Given the description of an element on the screen output the (x, y) to click on. 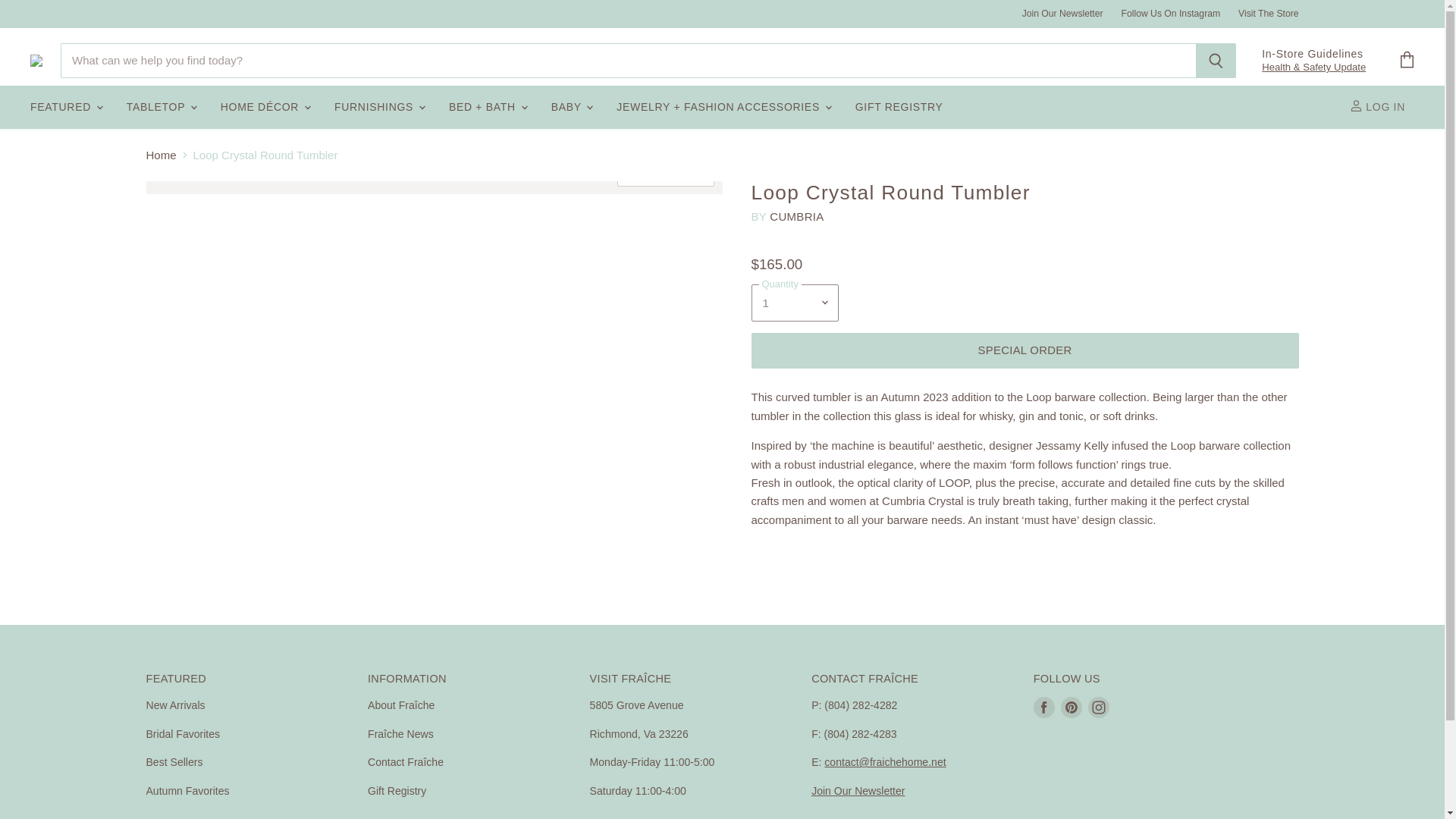
Pinterest (1071, 707)
Cumbria (797, 215)
Instagram (1098, 707)
Facebook (1044, 707)
Follow Us On Instagram (1171, 13)
TABLETOP (160, 106)
ACCOUNT ICON (1355, 105)
Visit The Store (1268, 13)
FEATURED (65, 106)
Join Our Newsletter (1062, 13)
